Given the description of an element on the screen output the (x, y) to click on. 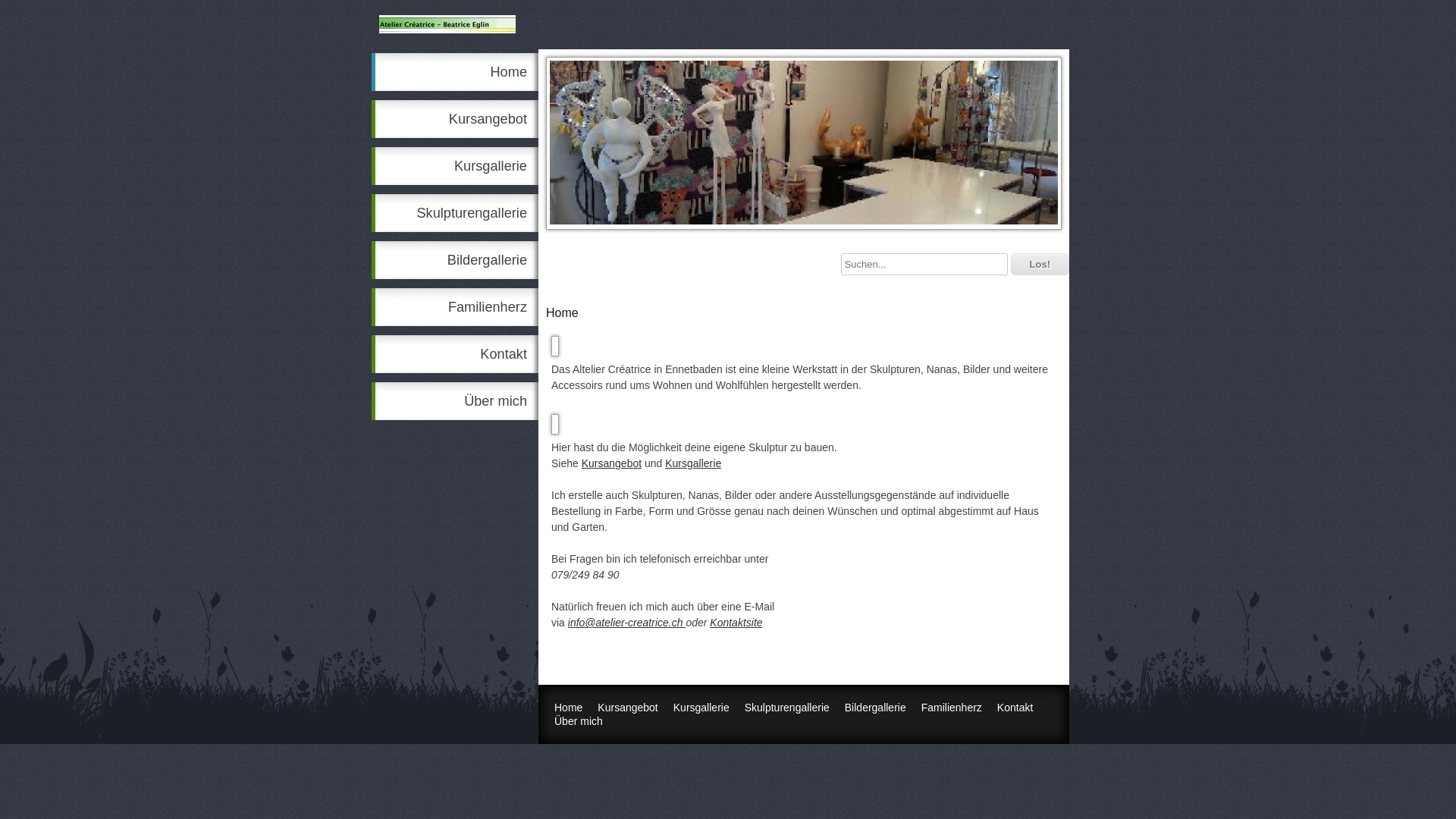
info@atelier-creatrice.ch Element type: text (626, 622)
Home Element type: text (454, 72)
Familienherz Element type: text (454, 307)
Bildergallerie Element type: text (875, 707)
Kursgallerie Element type: text (701, 707)
Kontakt Element type: text (1014, 707)
Home Element type: text (568, 707)
Bildergallerie Element type: text (454, 260)
Kursangebot Element type: text (627, 707)
Kontakt Element type: text (454, 354)
Kursgallerie Element type: text (693, 463)
Skulpturengallerie Element type: text (786, 707)
Los! Element type: text (1039, 264)
Kursangebot Element type: text (611, 463)
Skulpturengallerie Element type: text (454, 213)
Kursgallerie Element type: text (454, 166)
Kursangebot Element type: text (454, 119)
Kontaktsite Element type: text (735, 622)
Familienherz Element type: text (951, 707)
